Given the description of an element on the screen output the (x, y) to click on. 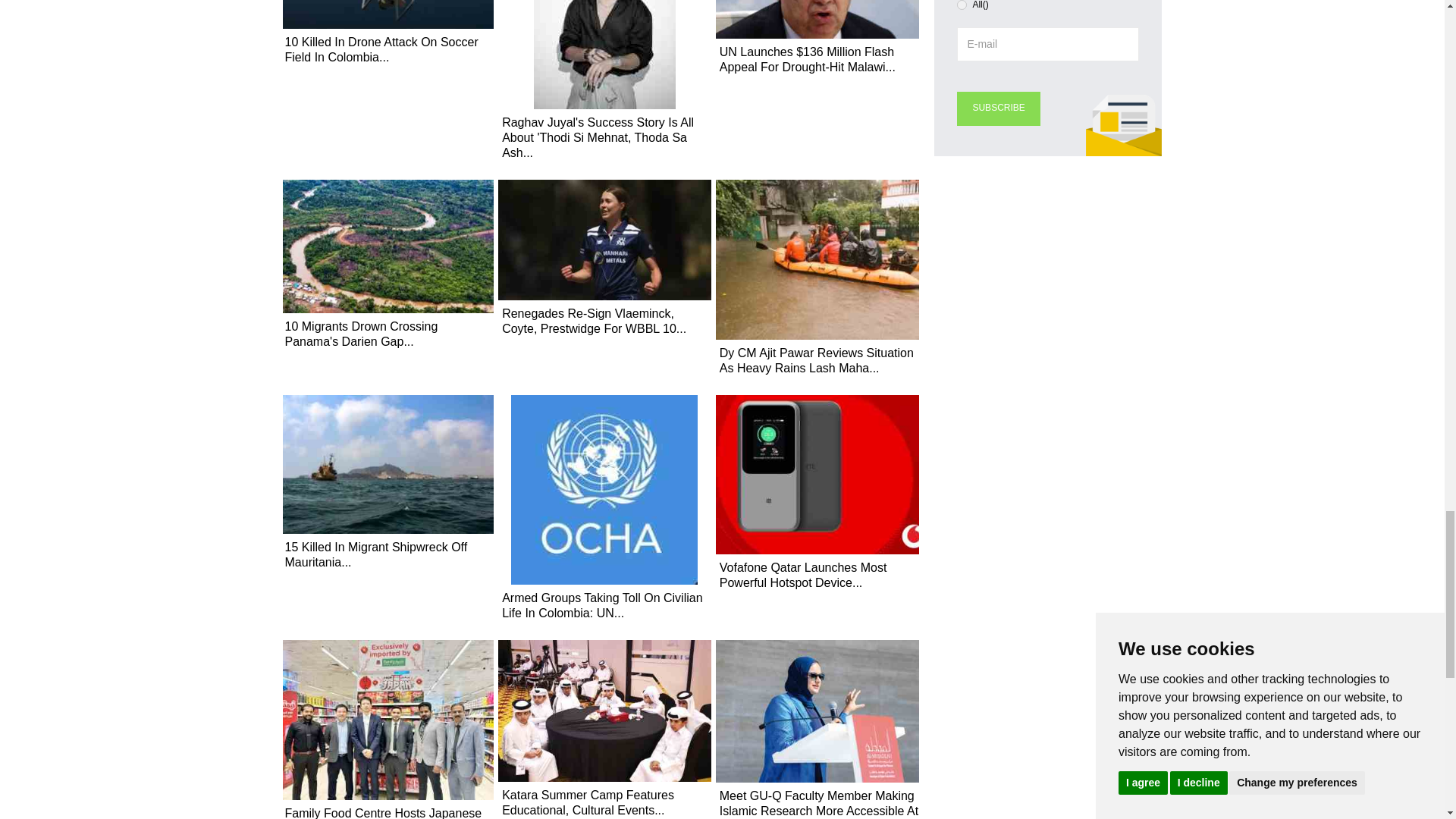
2 (961, 4)
Subscribe (997, 108)
